Given the description of an element on the screen output the (x, y) to click on. 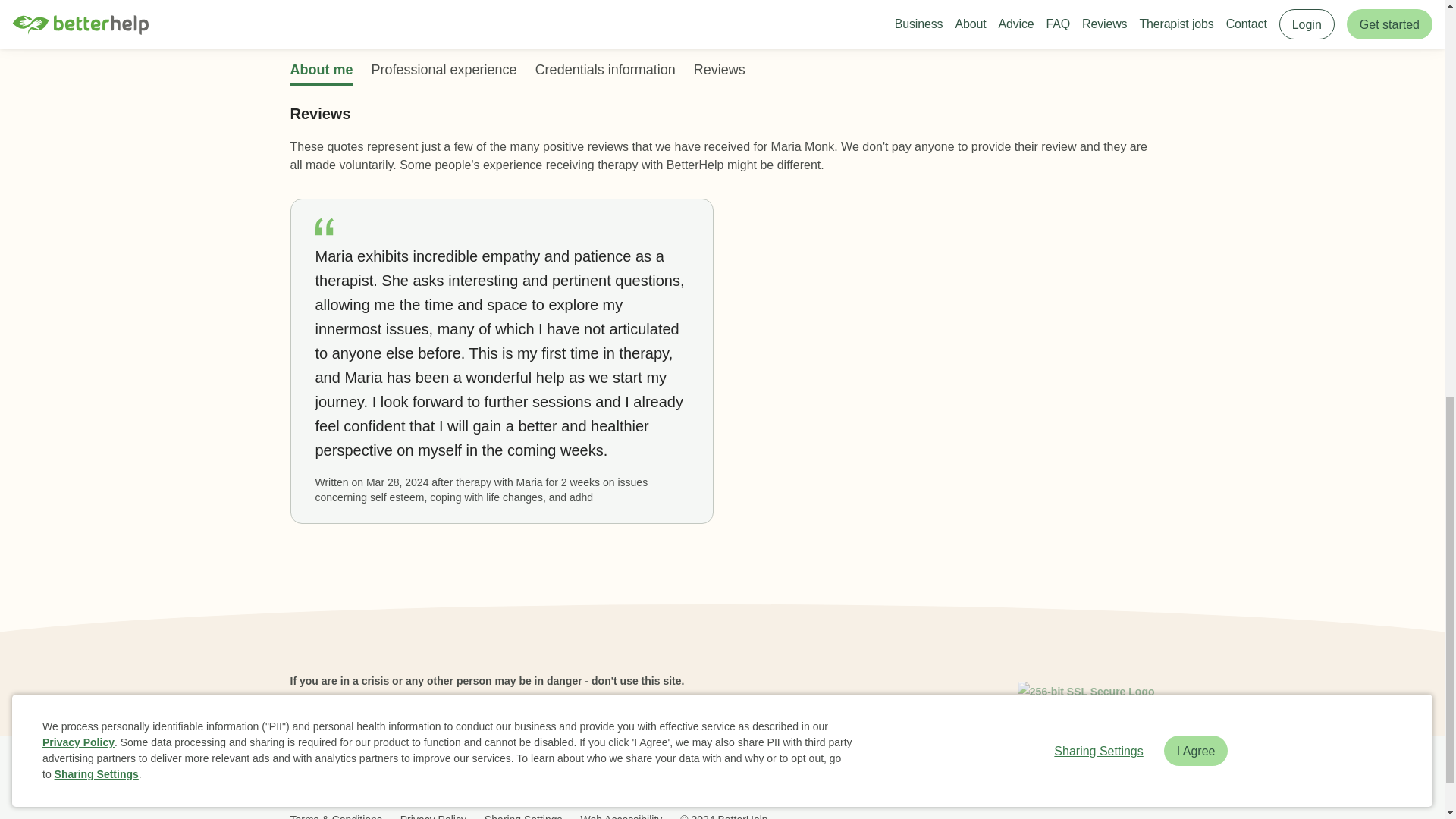
Online Therapy (784, 772)
Home (311, 772)
For Therapists (928, 772)
Business (365, 772)
About (419, 772)
FAQ (462, 772)
These resources (331, 700)
Reviews (510, 772)
Contact (857, 772)
Find a Therapist (692, 772)
Advice (564, 772)
Careers (618, 772)
